Given the description of an element on the screen output the (x, y) to click on. 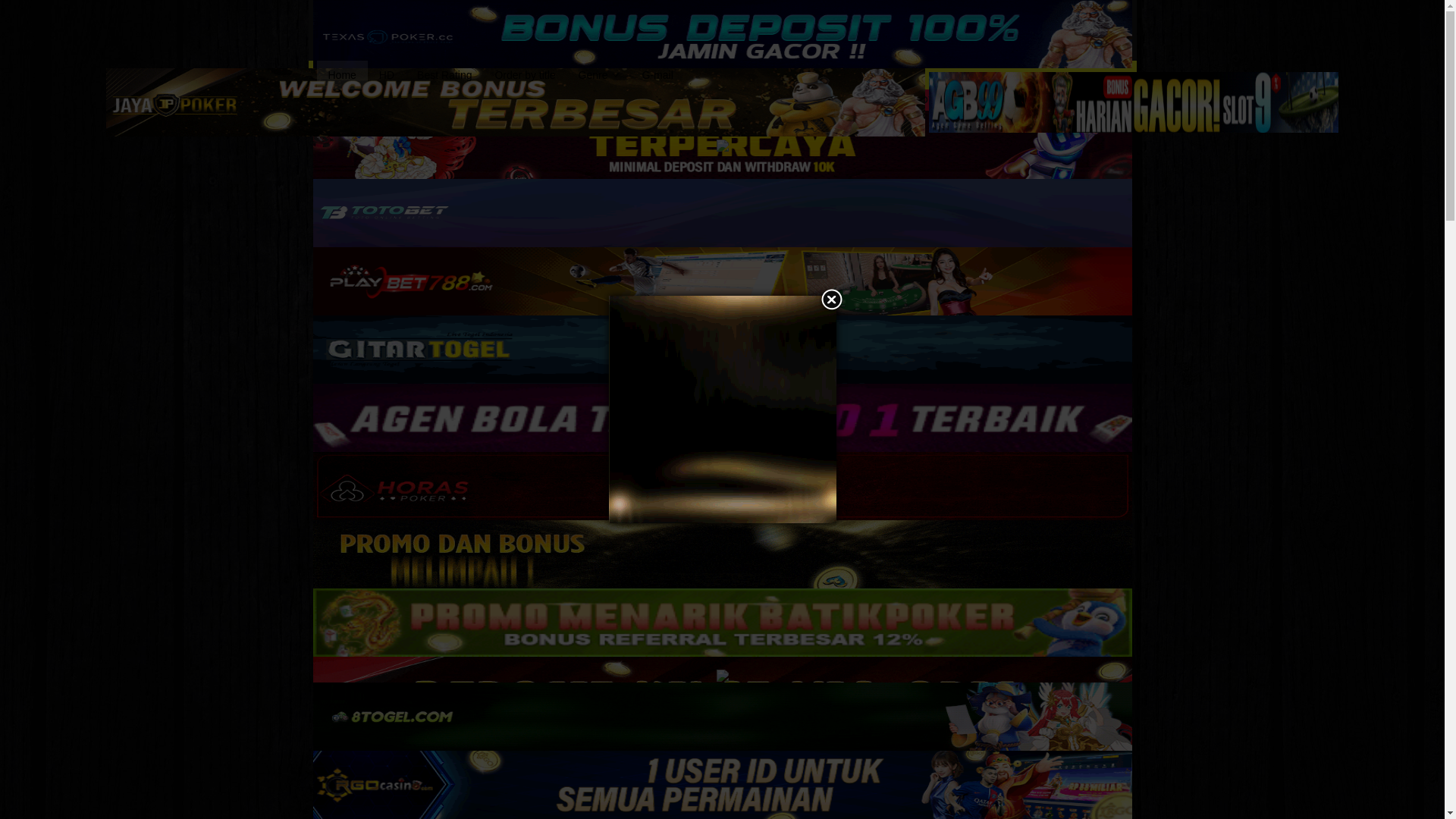
Order by title (524, 74)
TEXASPOKERCC (722, 33)
Home (342, 74)
Genre (598, 74)
ABG99 (1133, 102)
THRILLER (691, 99)
ACTION (334, 99)
Best Rating (444, 74)
DRAMA (383, 99)
HD (387, 74)
JAYAPOKER (515, 101)
COMEDY (913, 99)
Ruang Streaming (425, 29)
FANTASY (751, 99)
Order by title (524, 74)
